Given the description of an element on the screen output the (x, y) to click on. 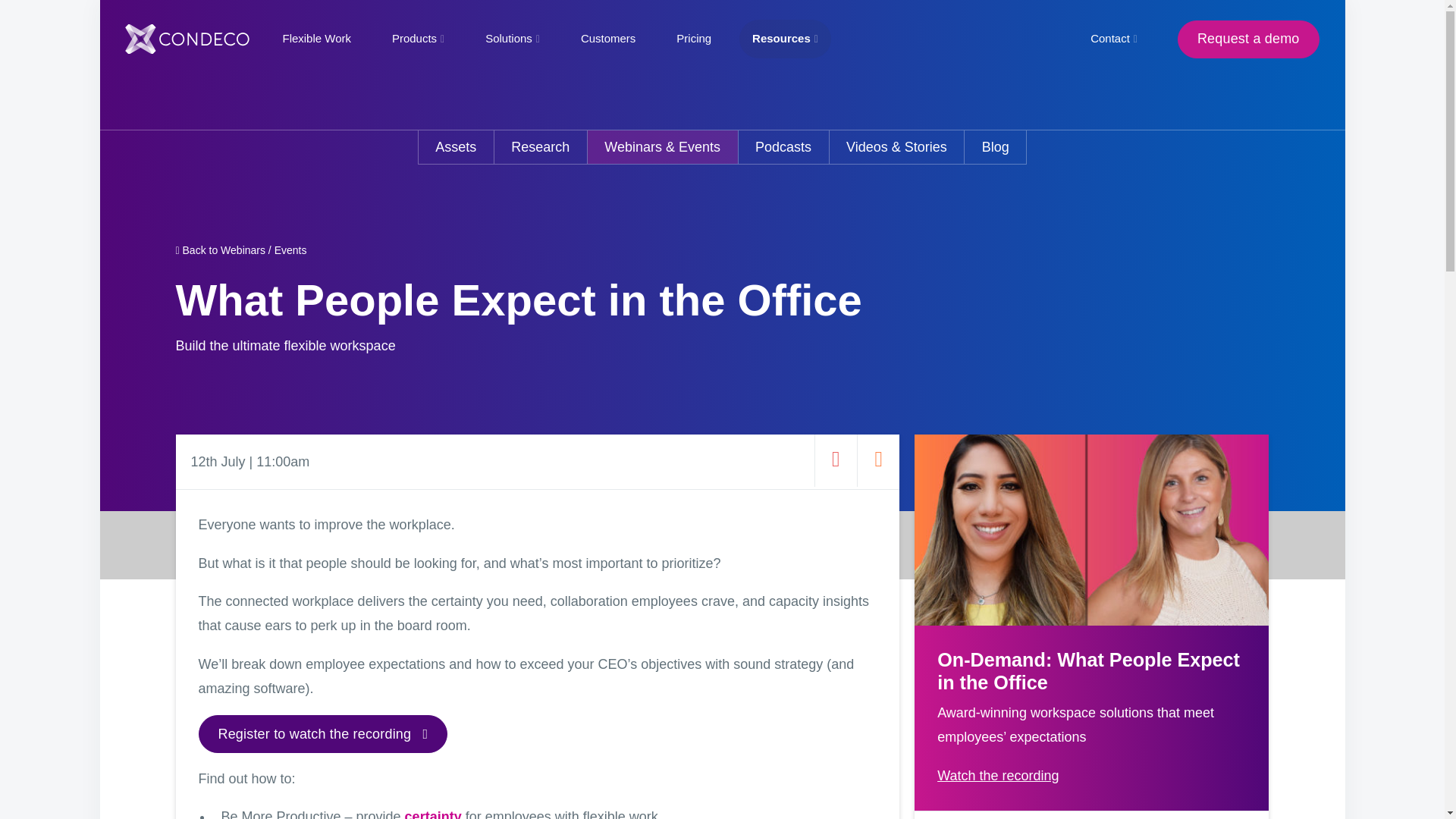
Contact (1113, 38)
Pricing (693, 38)
Products (417, 38)
Request a demo (1248, 38)
Modern Workplace (193, 39)
Solutions (512, 38)
Customers (607, 38)
Watch the recording (997, 775)
Flexible Work (315, 38)
Resources (785, 38)
